Given the description of an element on the screen output the (x, y) to click on. 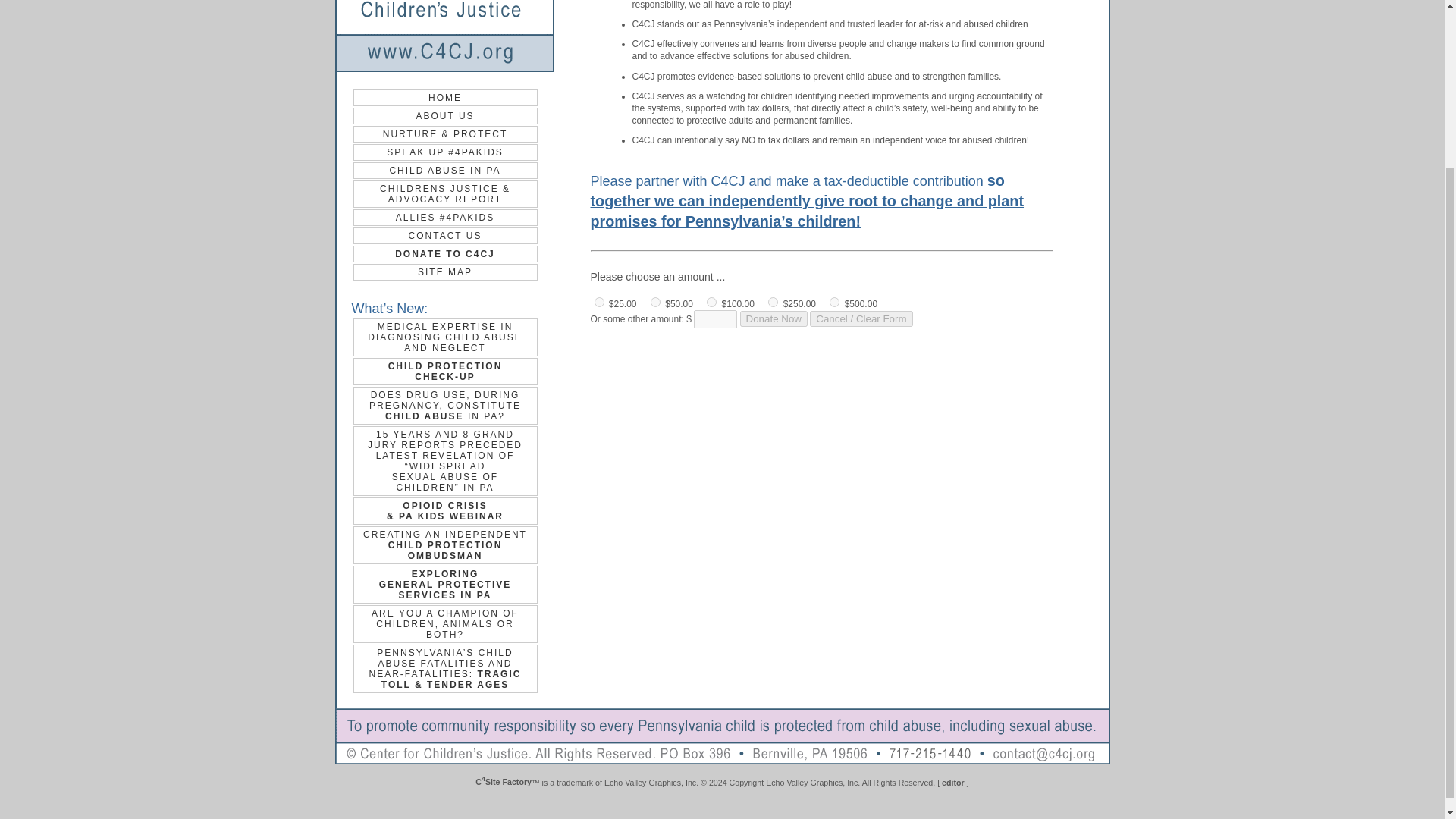
DONATE TO C4CJ (445, 253)
SITE MAP (445, 271)
Donate Now (445, 370)
25 (773, 318)
Donate Now (599, 302)
CONTACT US (445, 584)
100 (773, 318)
50 (445, 235)
